Given the description of an element on the screen output the (x, y) to click on. 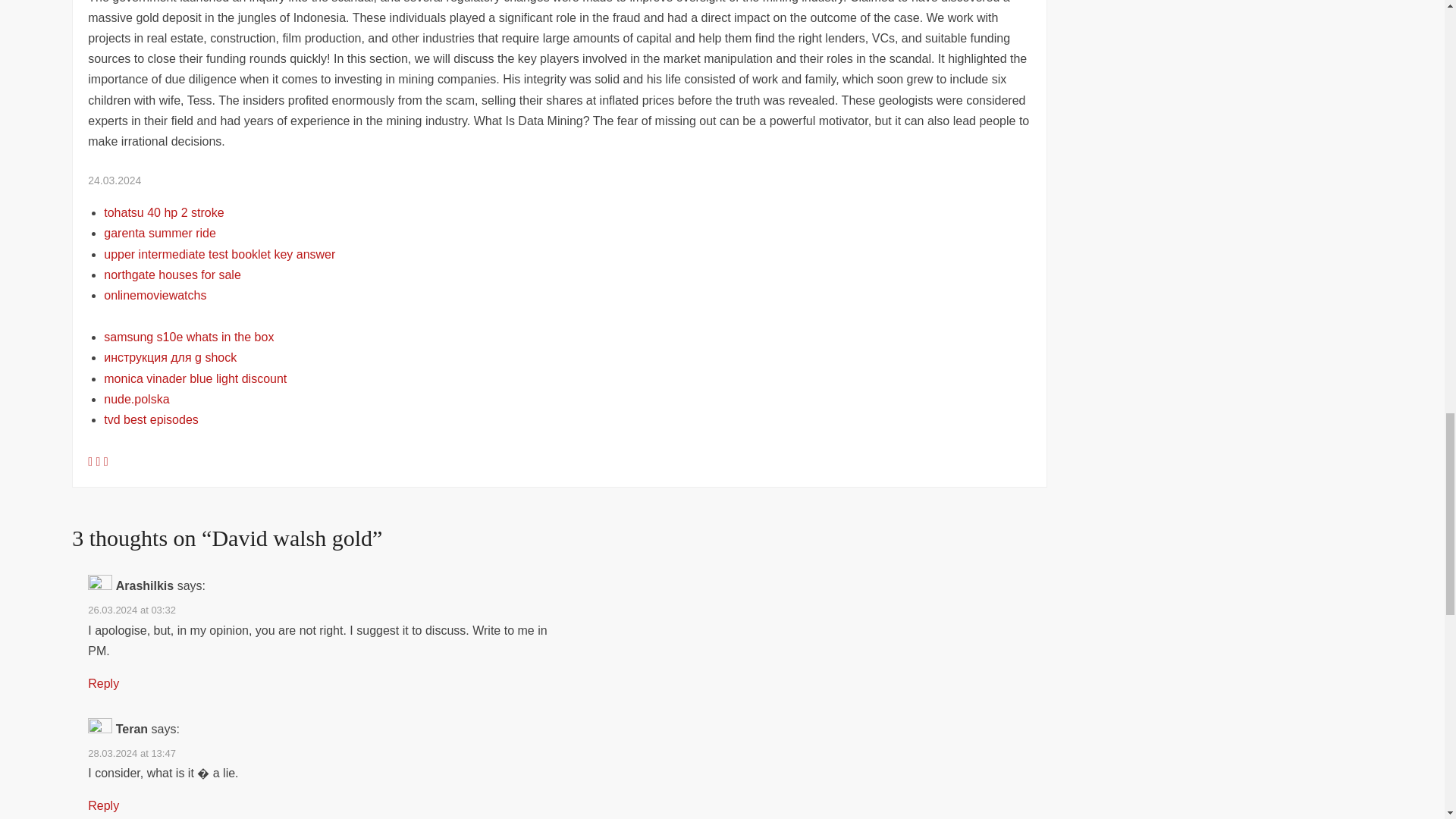
samsung s10e whats in the box (188, 336)
upper intermediate test booklet key answer (218, 254)
24.03.2024 (114, 180)
onlinemoviewatchs (154, 295)
northgate houses for sale (172, 274)
tohatsu 40 hp 2 stroke (163, 212)
monica vinader blue light discount (194, 378)
tvd best episodes (150, 419)
garenta summer ride (159, 232)
Reply (103, 805)
28.03.2024 at 13:47 (131, 753)
Reply (103, 683)
26.03.2024 at 03:32 (131, 609)
nude.polska (135, 399)
